Given the description of an element on the screen output the (x, y) to click on. 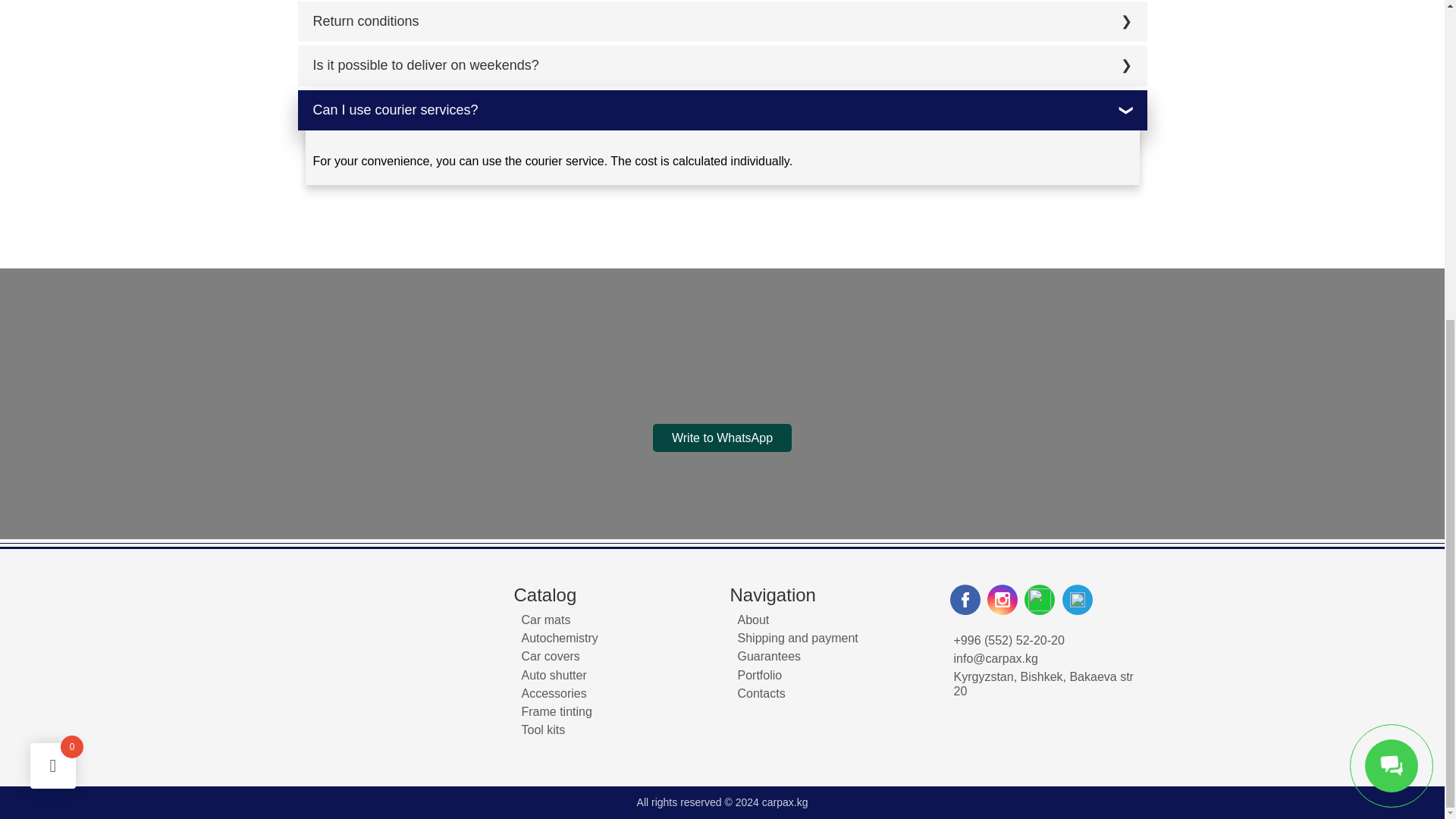
Car covers (550, 656)
Frame tinting (556, 711)
Auto shutter (553, 675)
Autochemistry (559, 637)
Contacts (760, 693)
Guarantees (768, 656)
Car mats (545, 619)
About (752, 619)
Write to WhatsApp (722, 438)
Shipping and payment (796, 637)
Tool kits (543, 729)
Accessories (553, 693)
Portfolio (758, 675)
